Given the description of an element on the screen output the (x, y) to click on. 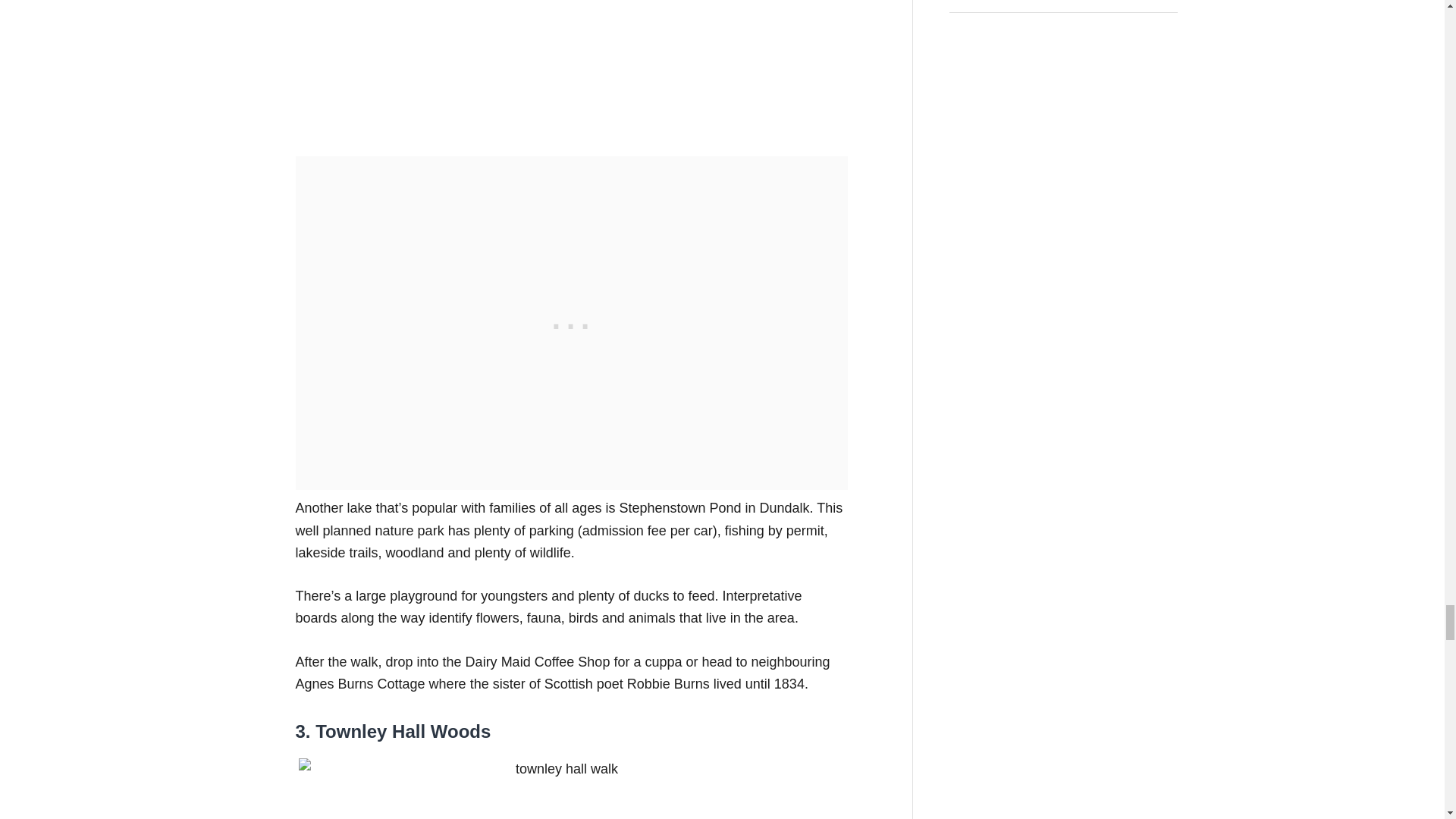
YouTube video player (507, 63)
